Given the description of an element on the screen output the (x, y) to click on. 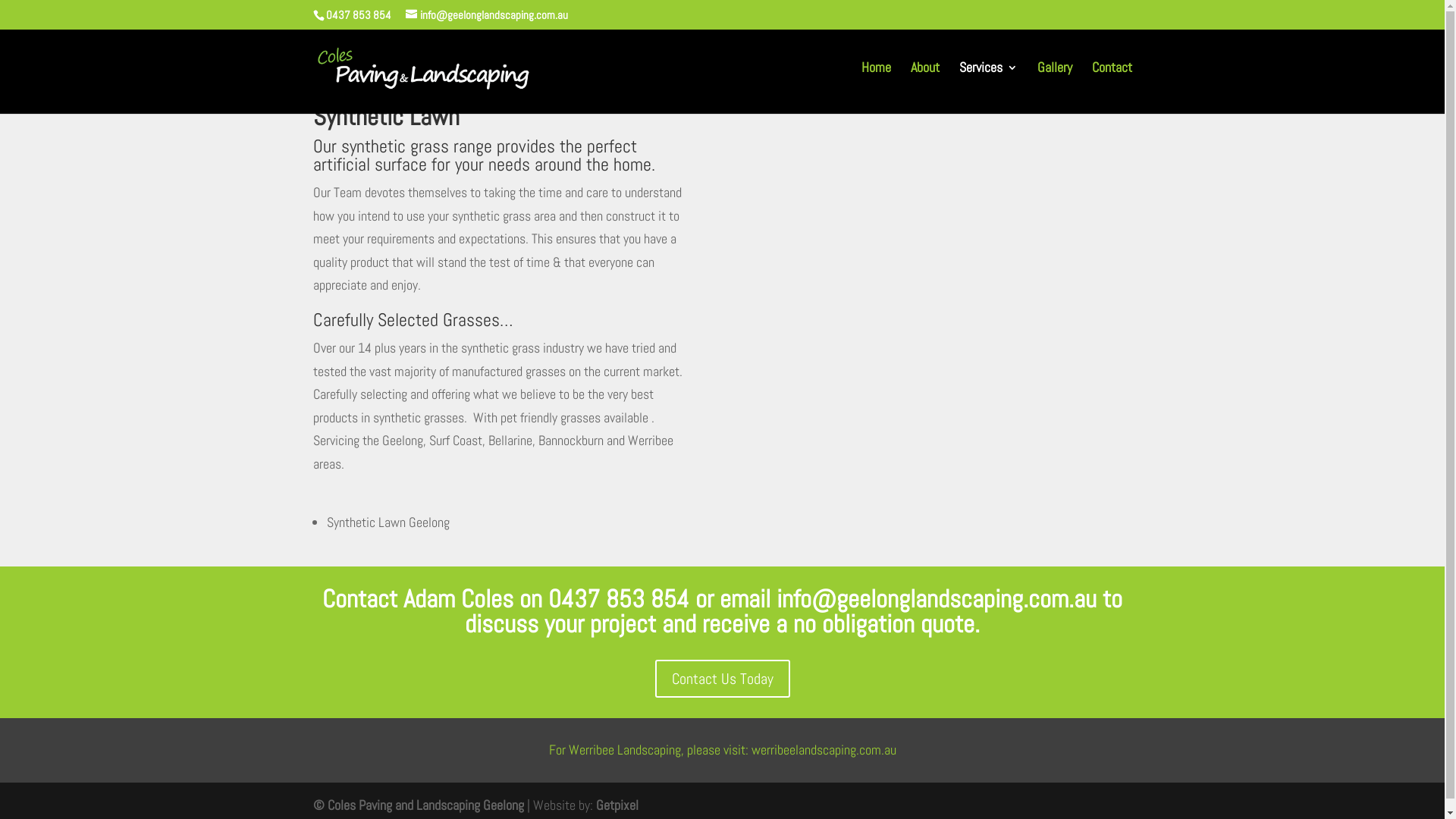
Getpixel Element type: text (617, 804)
info@geelonglandscaping.com.au Element type: text (485, 14)
Contact Element type: text (1112, 79)
0437 853 854 Element type: text (618, 599)
About Element type: text (924, 79)
Home Element type: text (876, 79)
info@geelonglandscaping.com.au Element type: text (936, 599)
Gallery Element type: text (1054, 79)
Contact Us Today Element type: text (722, 678)
Services Element type: text (987, 79)
